Given the description of an element on the screen output the (x, y) to click on. 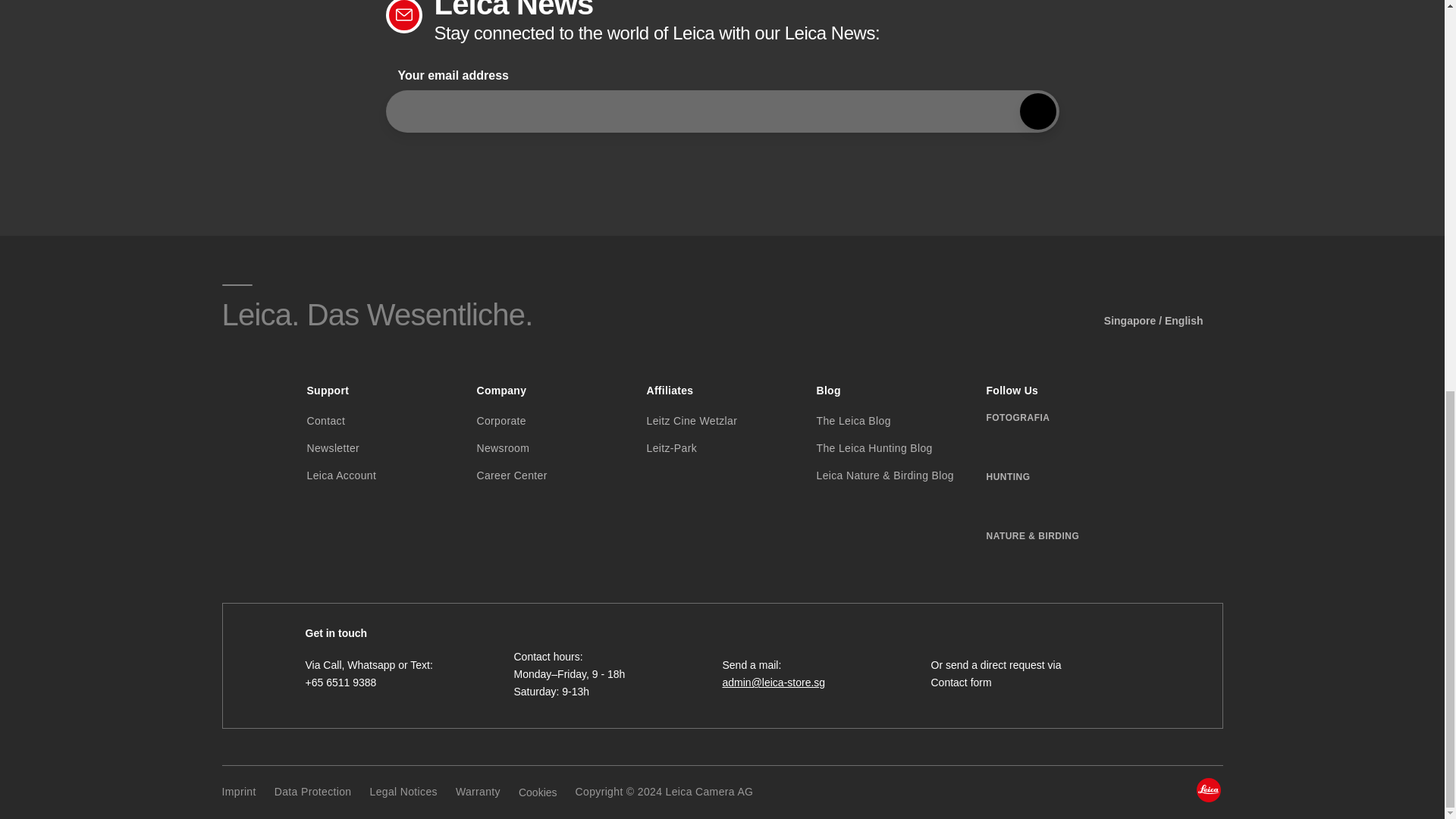
Link to Cookies settings pop-up (537, 791)
Continue your subscription to the Leica Camera newsletter (1037, 111)
